Given the description of an element on the screen output the (x, y) to click on. 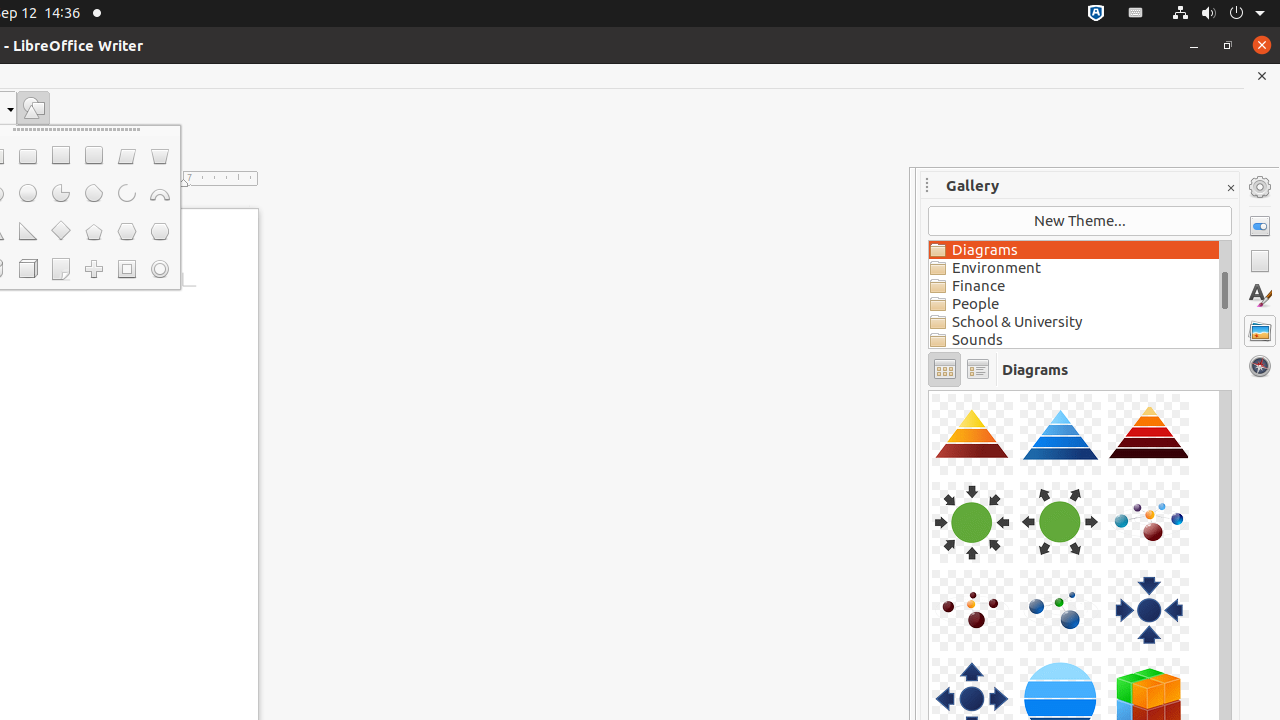
Circle Element type: toggle-button (27, 193)
Square, Rounded Element type: toggle-button (93, 155)
Component-Sphere04-DarkRed Element type: list-item (929, 390)
Hexagon Element type: toggle-button (126, 231)
Component-Circle04-Transparent-Orange Element type: list-item (929, 390)
